Given the description of an element on the screen output the (x, y) to click on. 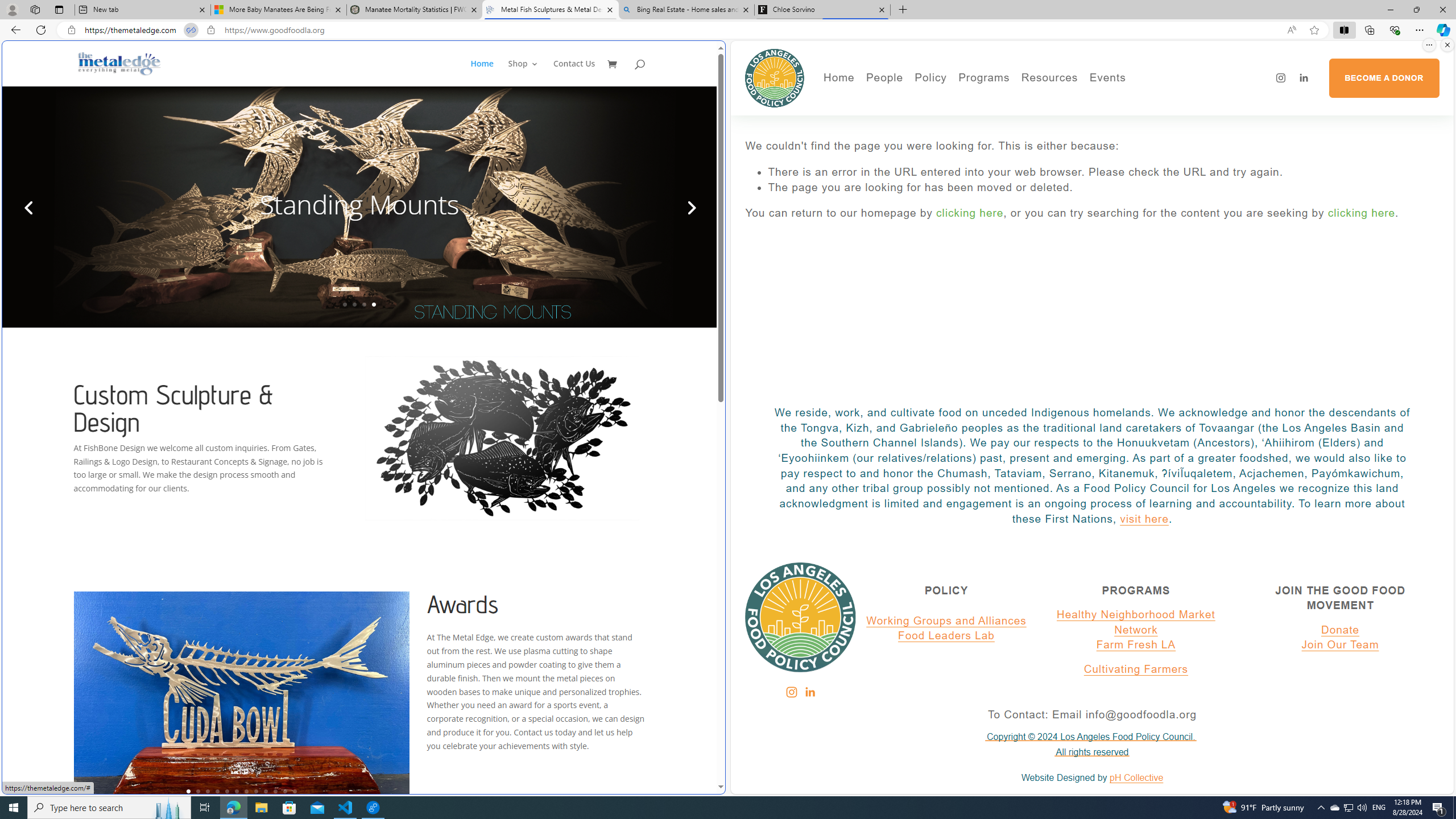
10 (275, 790)
Press (922, 132)
3 (207, 790)
Los Angeles Food Policy Council (774, 77)
More options. (1428, 45)
The page you are looking for has been moved or deleted. (1103, 187)
5 (226, 790)
